Given the description of an element on the screen output the (x, y) to click on. 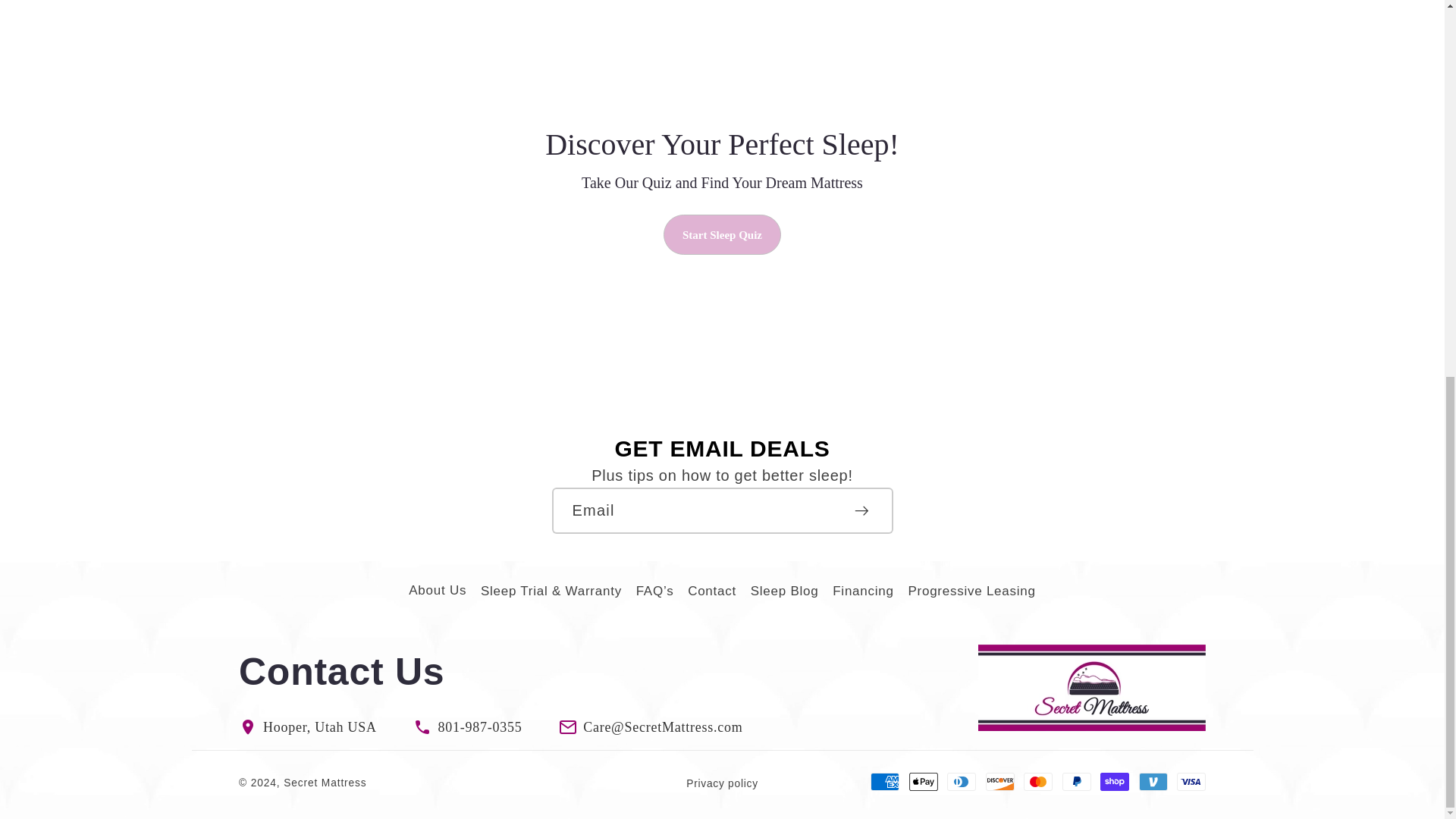
Progressive Leasing (971, 591)
801-987-0355 (479, 727)
Sleep Blog (784, 591)
Privacy policy (721, 784)
Contact (711, 591)
Secret Mattress (324, 782)
About Us (437, 592)
Start Sleep Quiz (721, 234)
Financing (862, 591)
Hooper, Utah USA (320, 727)
